Given the description of an element on the screen output the (x, y) to click on. 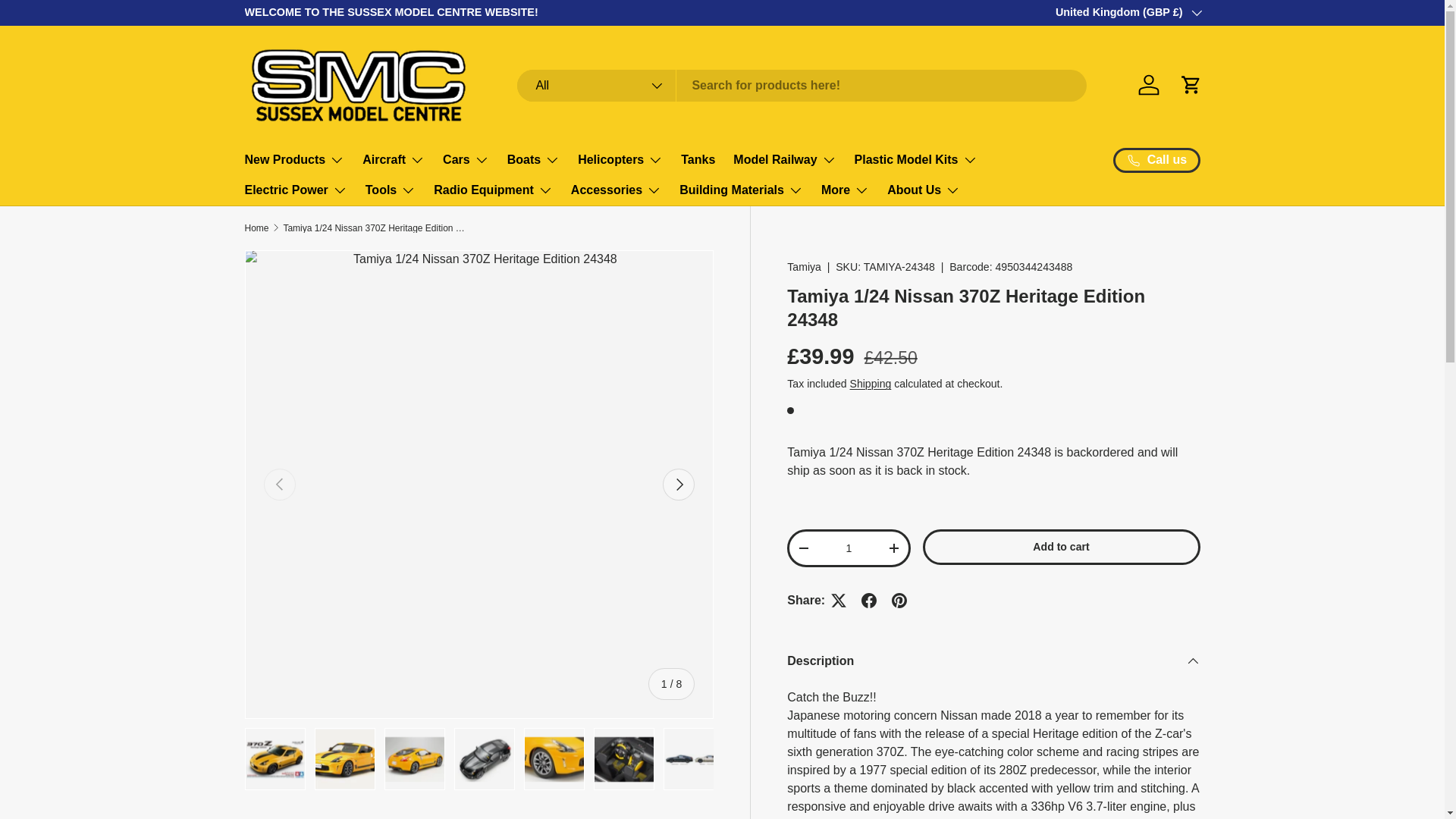
New Products (293, 159)
All (596, 85)
1 (848, 548)
Pin on Pinterest (898, 600)
Skip to content (69, 22)
Tweet on X (838, 600)
Aircraft (393, 159)
Cars (465, 159)
Cart (1190, 84)
Share on Facebook (868, 600)
Log in (1147, 84)
